Given the description of an element on the screen output the (x, y) to click on. 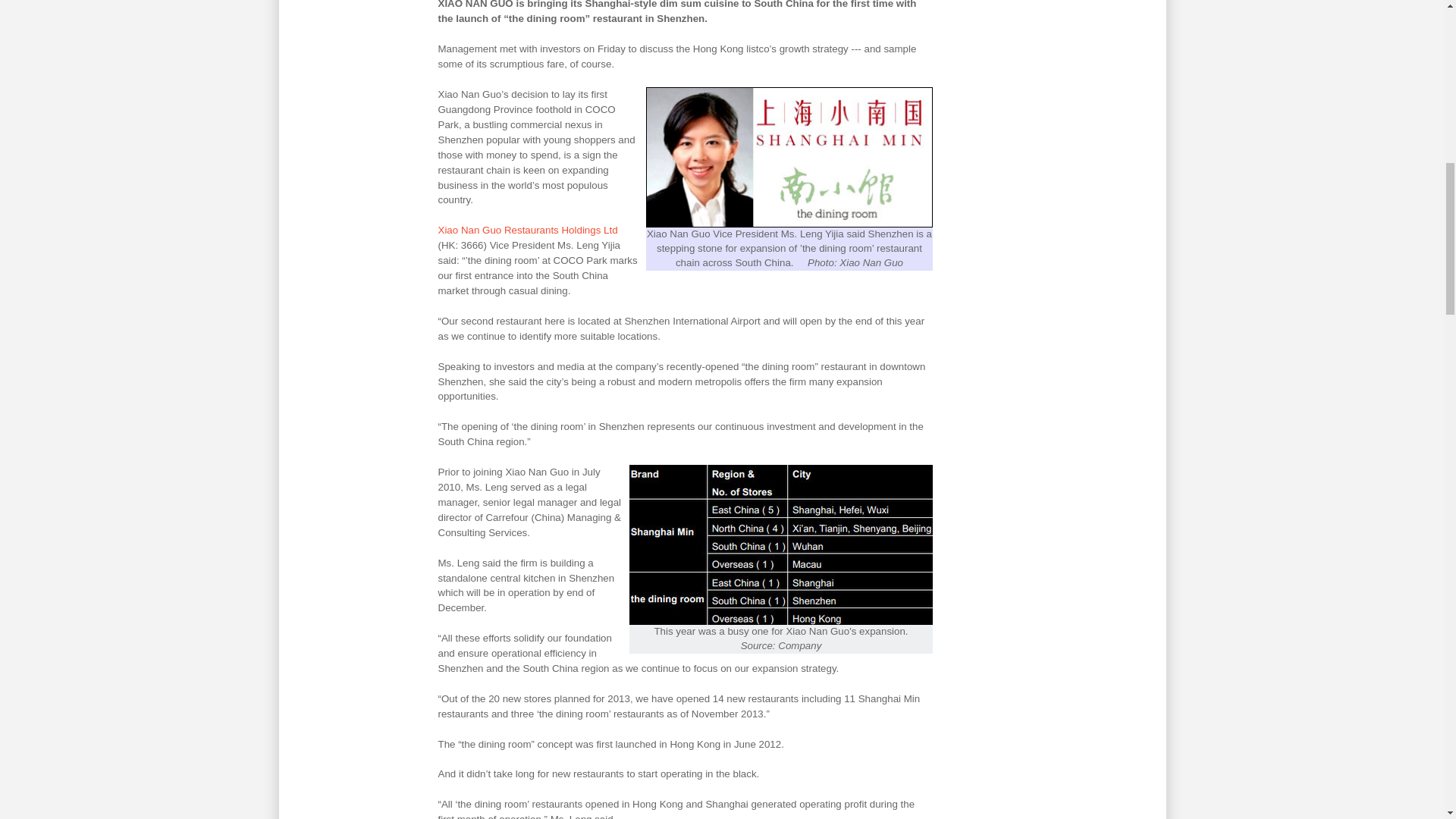
Xiao Nan Guo Restaurants Holdings Ltd (527, 229)
